Given the description of an element on the screen output the (x, y) to click on. 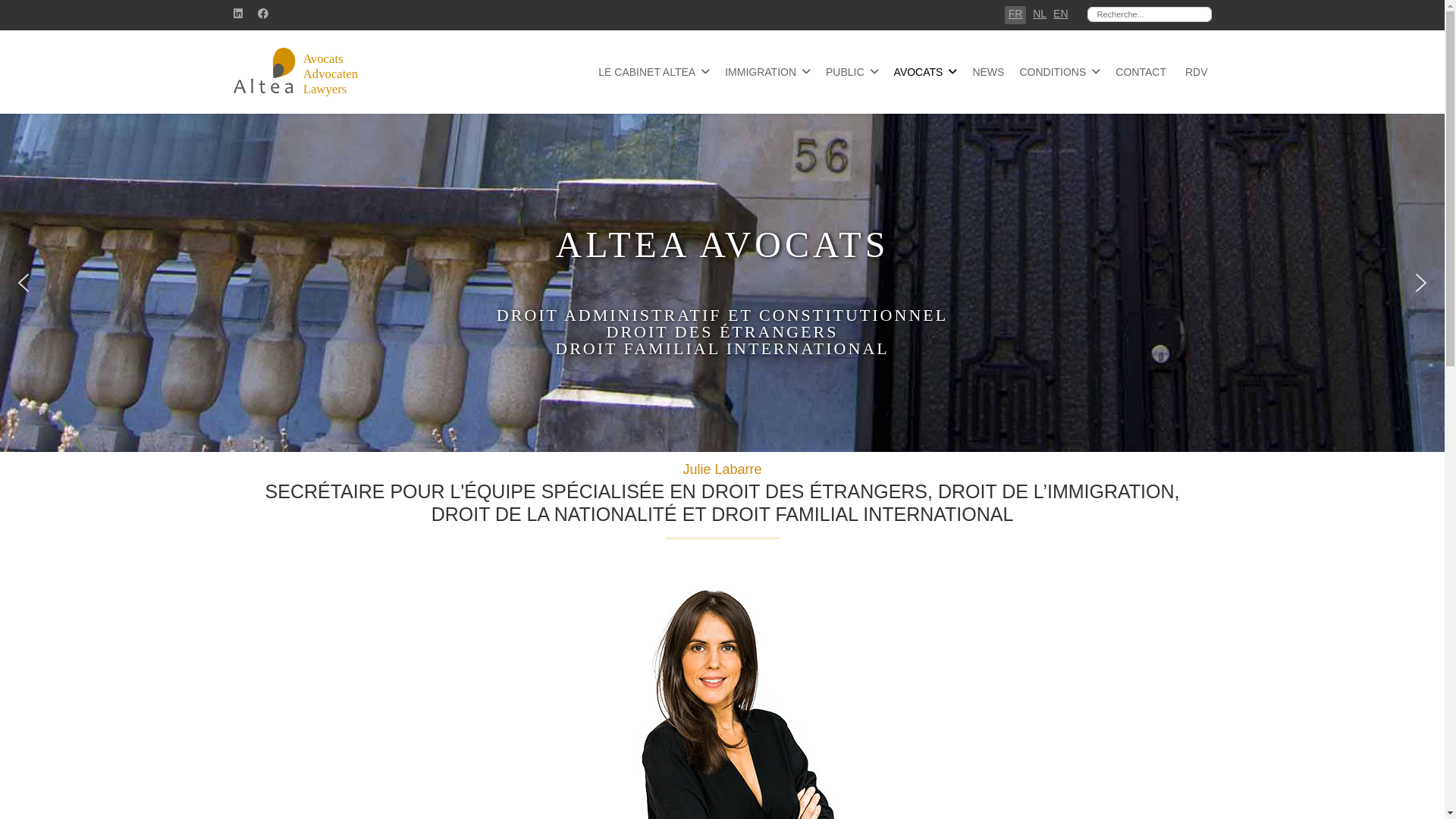
RDV Element type: text (1190, 71)
Julie Labarre Element type: text (721, 468)
IMMIGRATION Element type: text (767, 71)
NEWS Element type: text (987, 71)
CONTACT Element type: text (1140, 71)
FR Element type: text (1015, 13)
AVOCATS Element type: text (925, 71)
PUBLIC Element type: text (852, 71)
NL Element type: text (1039, 13)
EN Element type: text (1060, 13)
ALTEA AVOCATS Element type: text (722, 243)
CONDITIONS Element type: text (1059, 71)
LE CABINET ALTEA Element type: text (653, 71)
